Given the description of an element on the screen output the (x, y) to click on. 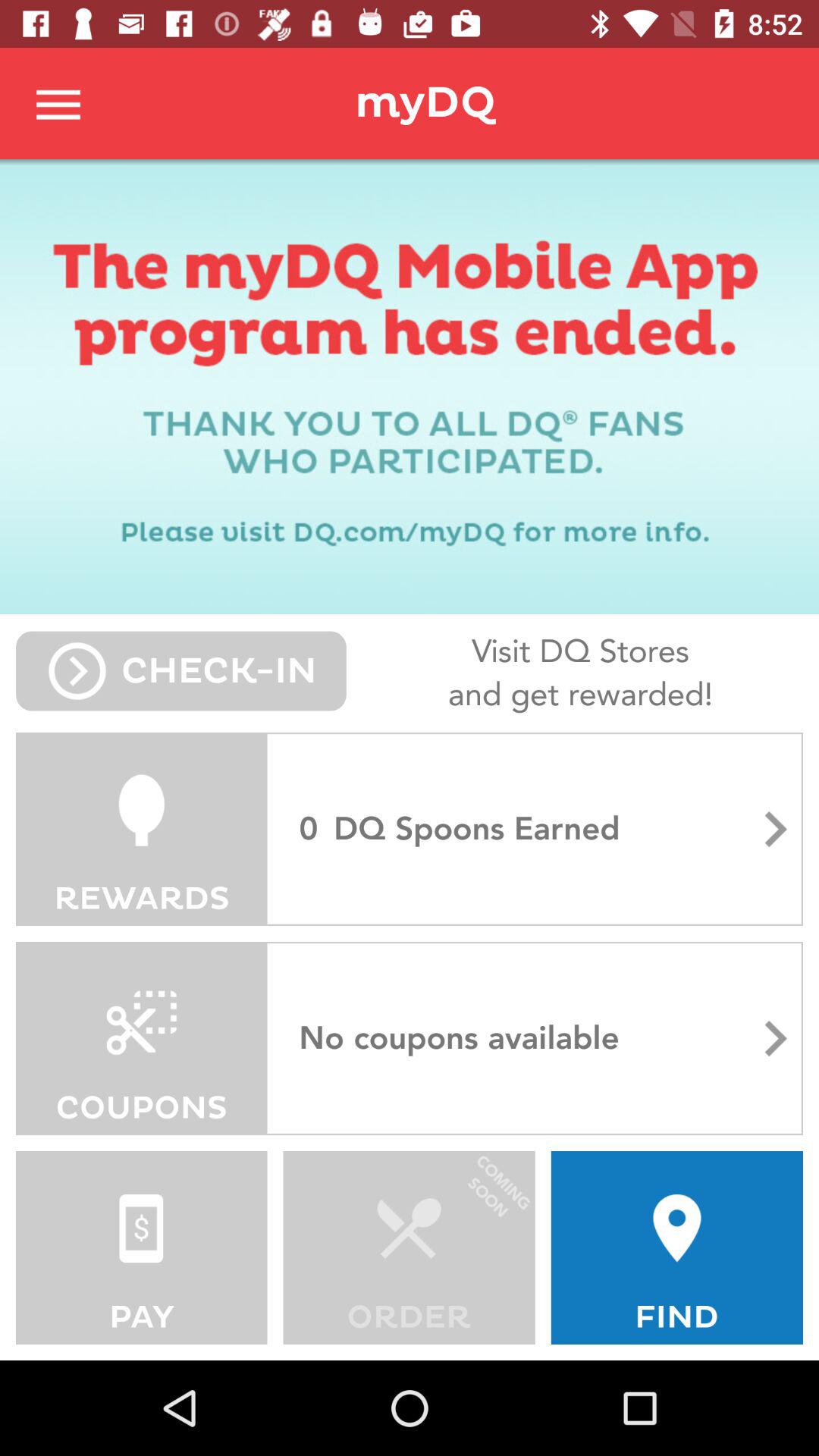
go to menu (59, 103)
